Given the description of an element on the screen output the (x, y) to click on. 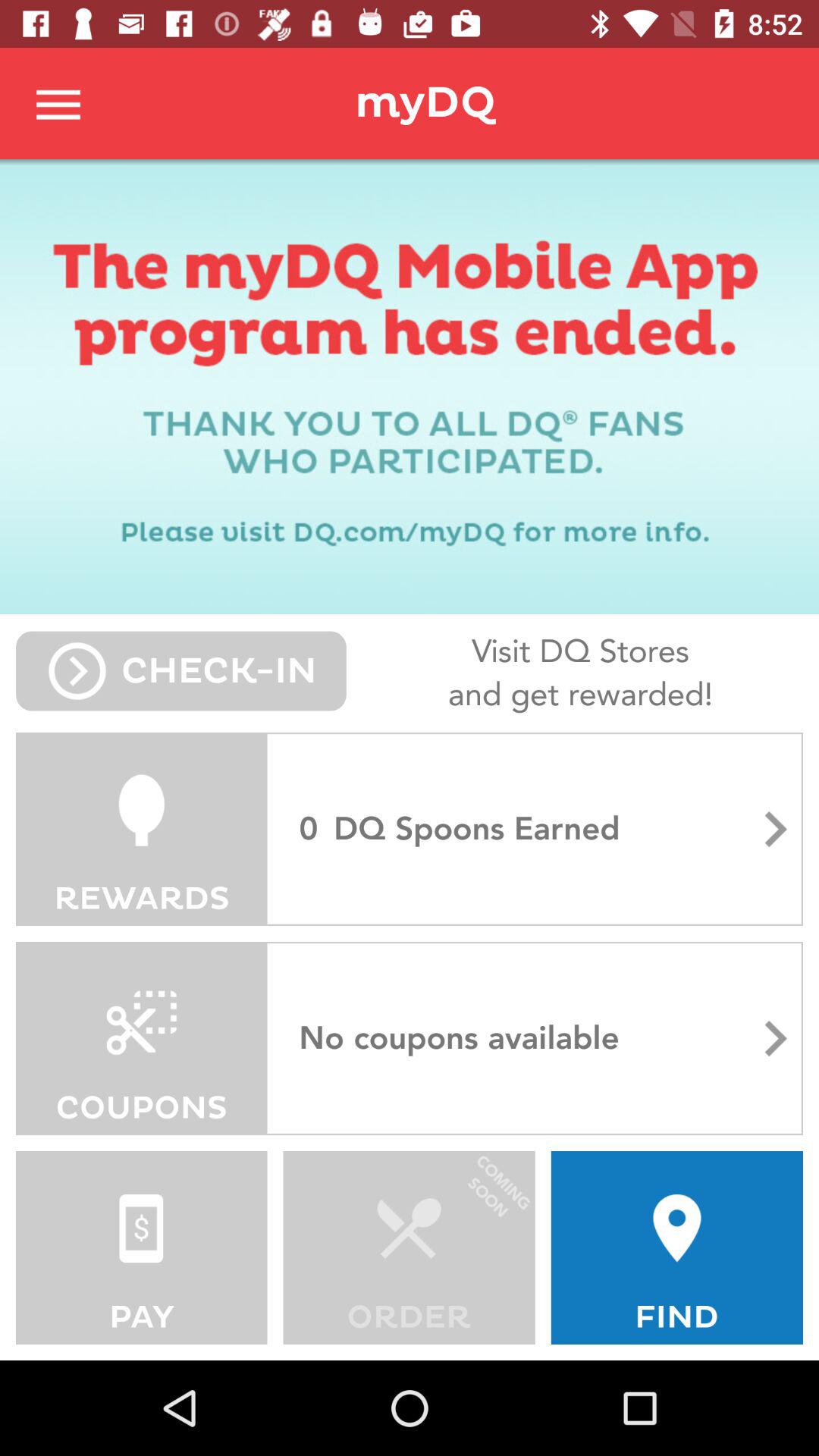
go to menu (59, 103)
